Given the description of an element on the screen output the (x, y) to click on. 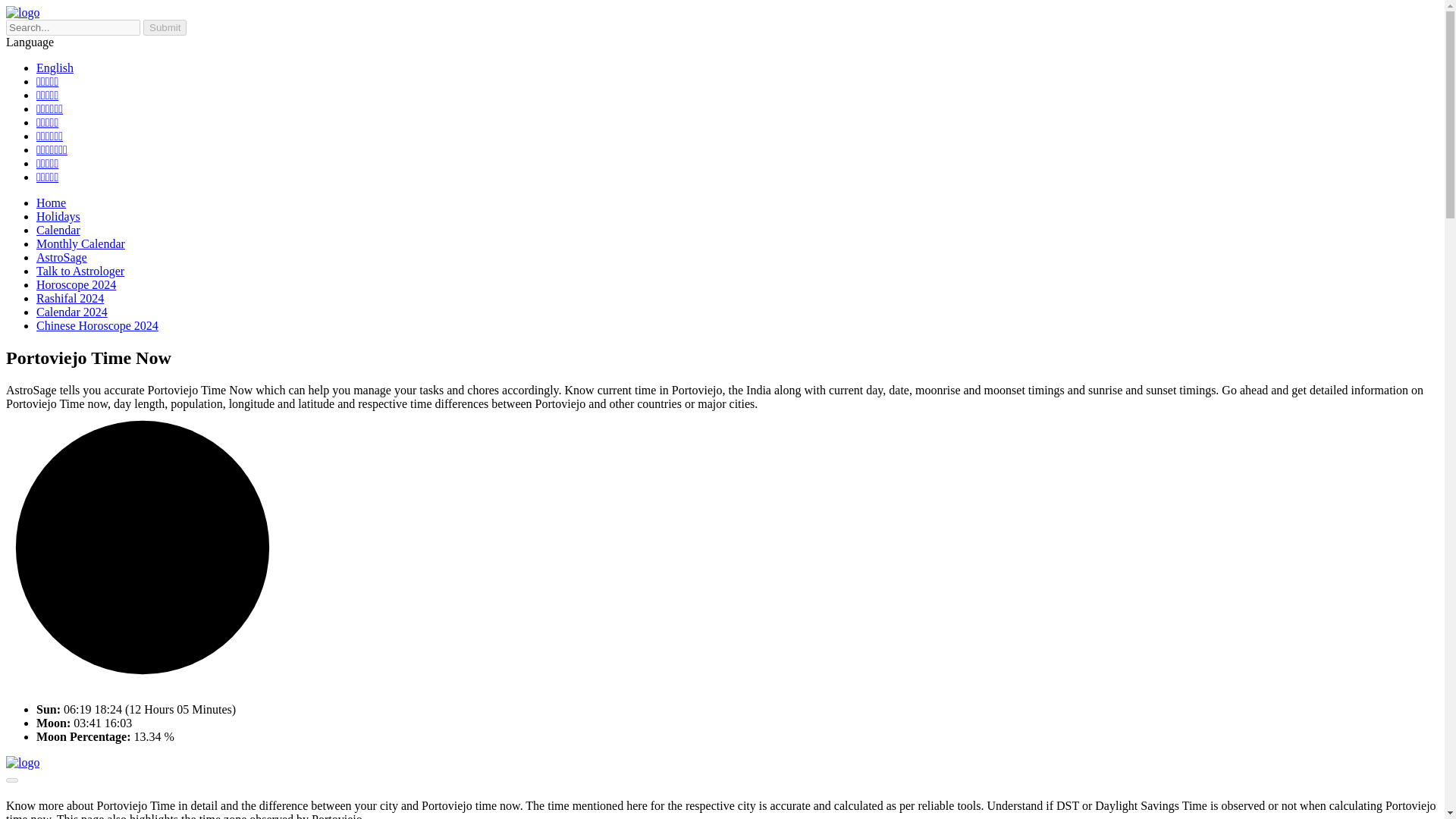
Bengali (142, 547)
Malayalam (47, 176)
Talk to Astrologer (49, 135)
Calendar 2024 (79, 270)
Calendar (71, 311)
Home (58, 229)
Submit (50, 202)
Chinese Horoscope 2024 (164, 27)
Holidays (97, 325)
